Given the description of an element on the screen output the (x, y) to click on. 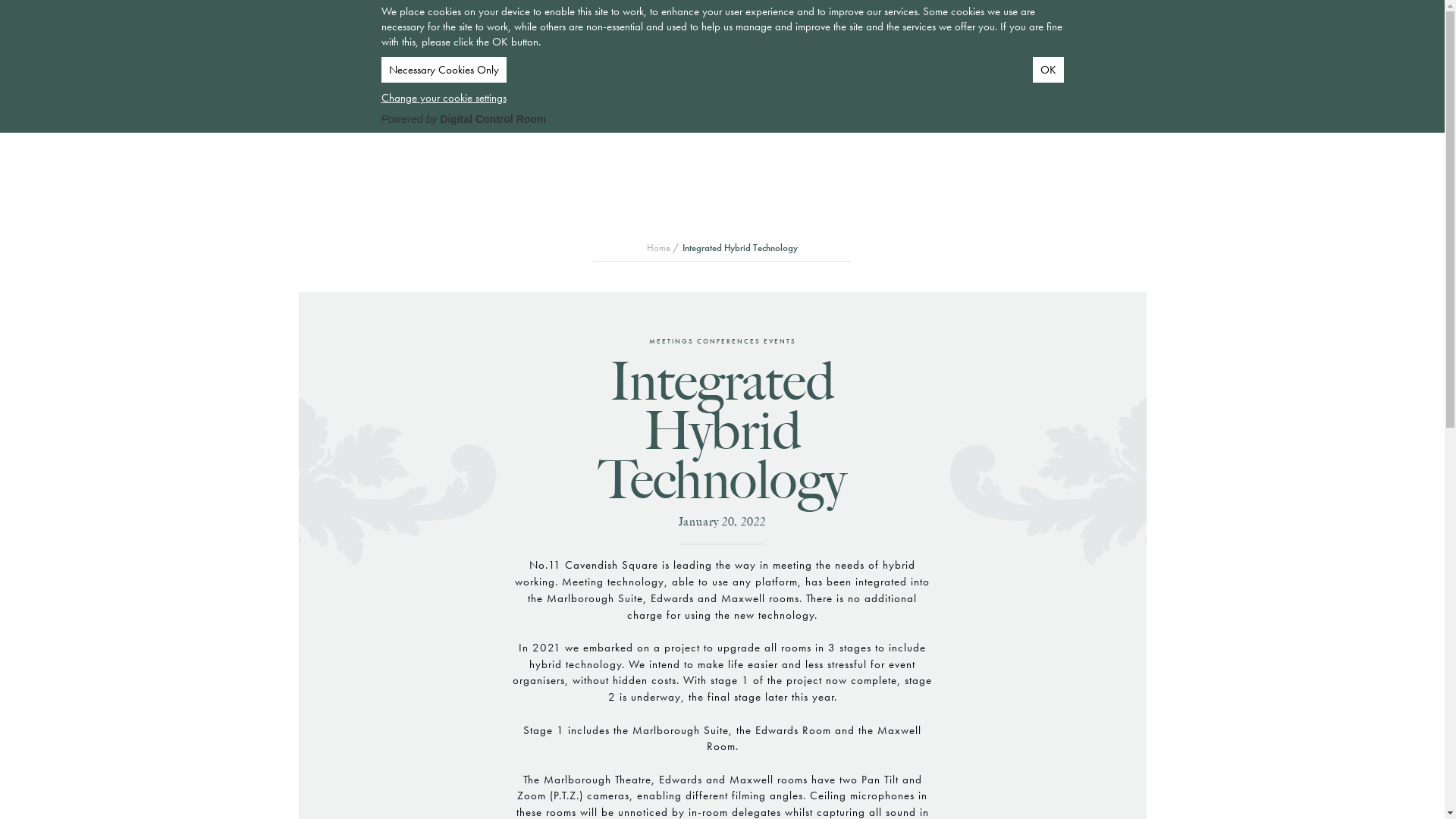
MENU Element type: text (1163, 36)
Necessary Cookies Only Element type: text (442, 69)
OK Element type: text (1047, 69)
VIRTUAL TOUR Element type: text (402, 38)
Powered by Digital Control Room Element type: text (463, 118)
Change your cookie settings Element type: text (442, 97)
BROCHURES Element type: text (501, 38)
TYPE OF EVENT Element type: text (295, 52)
Home Element type: text (658, 247)
